Given the description of an element on the screen output the (x, y) to click on. 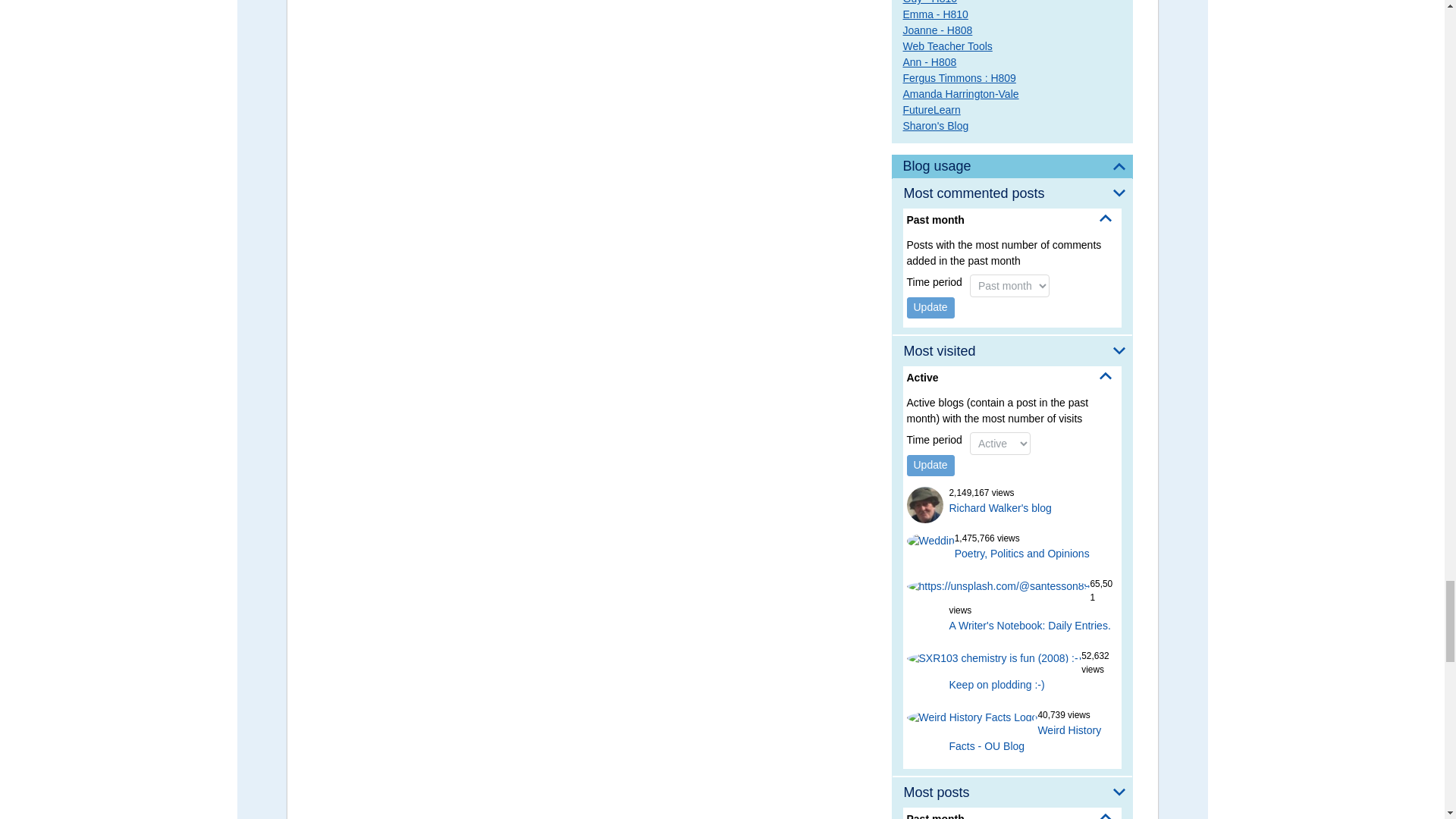
Update (931, 307)
Blog usage (1011, 166)
Hide options (1105, 218)
